Given the description of an element on the screen output the (x, y) to click on. 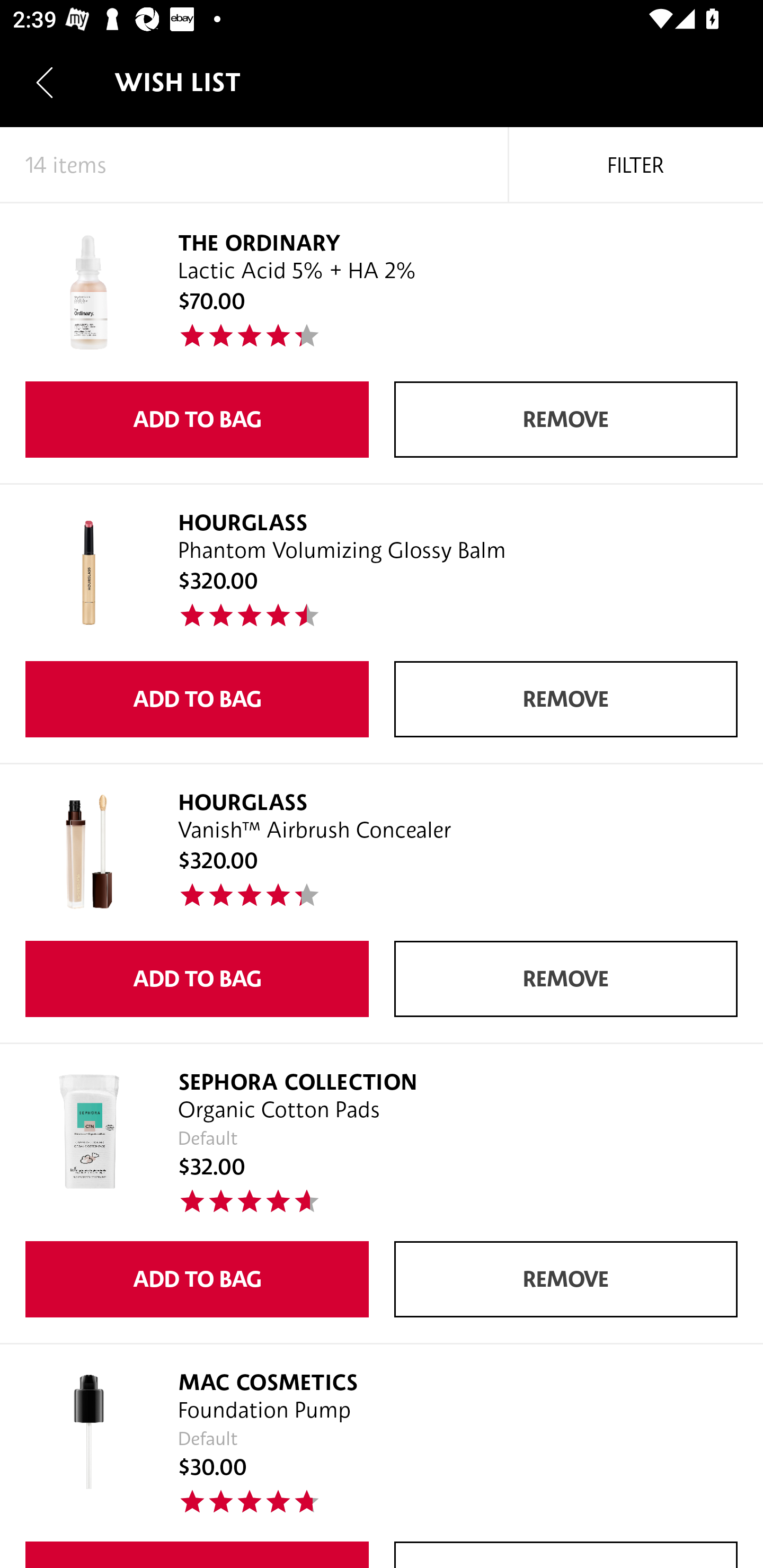
Navigate up (44, 82)
FILTER (635, 165)
ADD TO BAG (196, 419)
REMOVE (565, 419)
ADD TO BAG (196, 698)
REMOVE (565, 698)
ADD TO BAG (196, 978)
REMOVE (565, 978)
ADD TO BAG (196, 1279)
REMOVE (565, 1279)
